Given the description of an element on the screen output the (x, y) to click on. 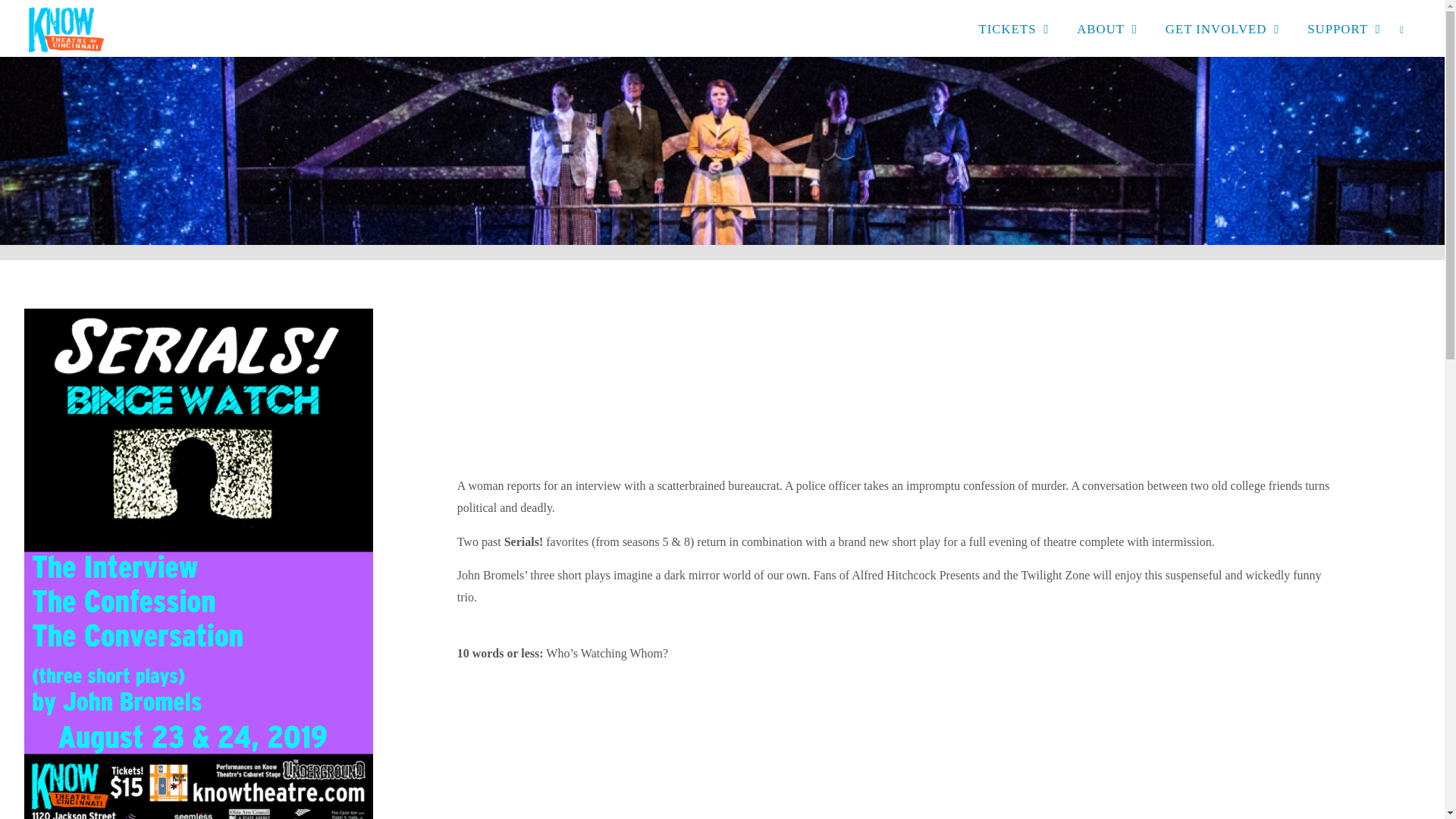
ABOUT (1100, 28)
Know Theatre of Cincinnati (66, 28)
TICKETS (1007, 28)
